Given the description of an element on the screen output the (x, y) to click on. 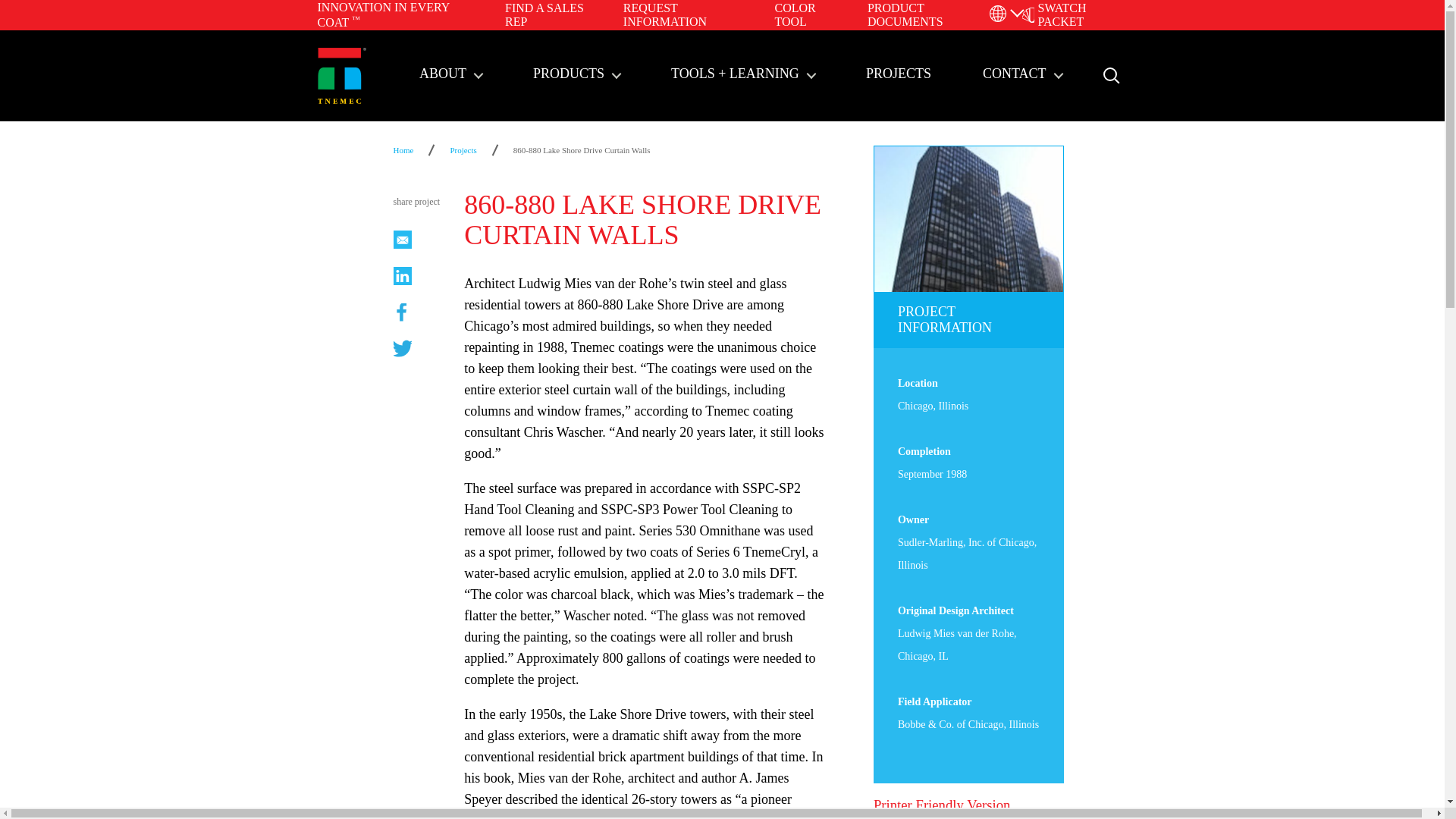
PRODUCTS (576, 75)
FIND A SALES REP (544, 14)
COLOR TOOL (794, 14)
REQUEST INFORMATION (664, 14)
PRODUCT DOCUMENTS (905, 14)
